Given the description of an element on the screen output the (x, y) to click on. 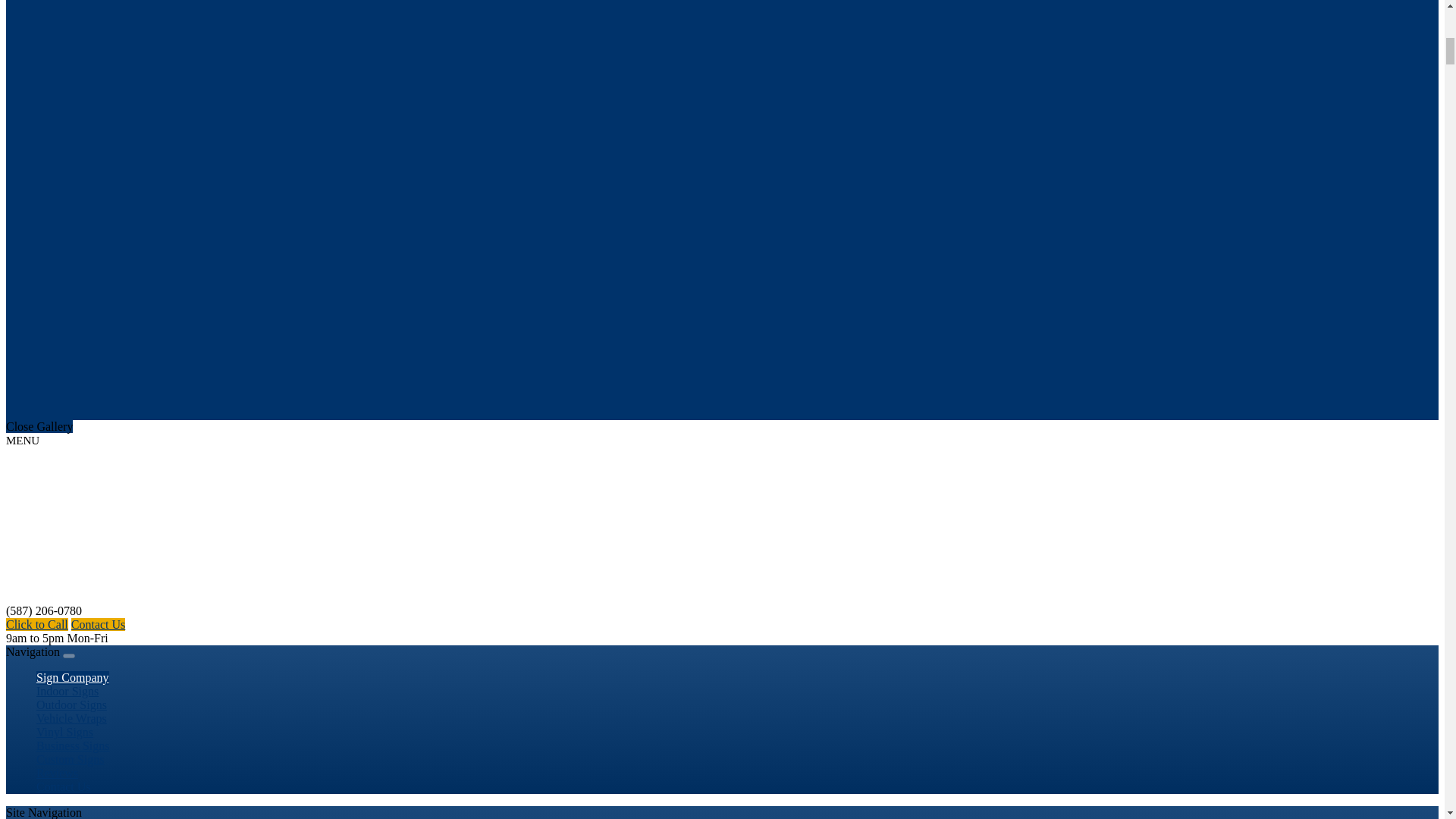
Reviews (57, 773)
Sign Company (72, 677)
Custom Signs (69, 759)
Contact Us (63, 786)
Vehicle Wraps (71, 718)
Indoor Signs (67, 691)
Contact Us (98, 624)
Indoor Signs (67, 691)
Sign Company (72, 677)
Reviews (57, 773)
Vinyl Signs (64, 732)
Outdoor Signs (71, 704)
Click to Call (36, 624)
Vehicle Wraps (71, 718)
Business Signs (72, 745)
